Given the description of an element on the screen output the (x, y) to click on. 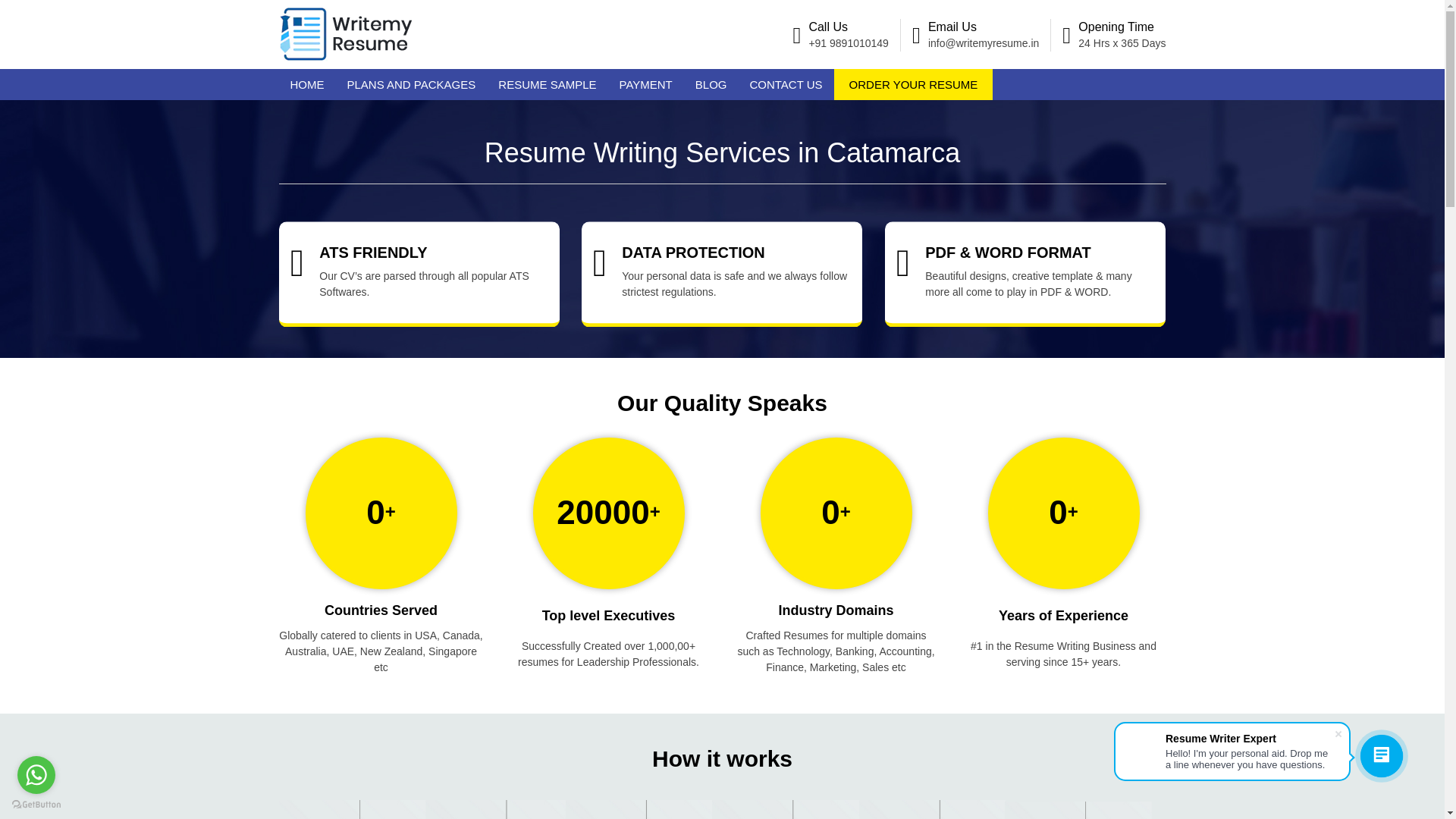
PLANS AND PACKAGES (410, 83)
RESUME SAMPLE (546, 83)
ORDER YOUR RESUME (913, 83)
CONTACT US (785, 83)
BLOG (711, 83)
HOME (307, 83)
24 Hrs x 365 Days (1122, 42)
PAYMENT (646, 83)
